Given the description of an element on the screen output the (x, y) to click on. 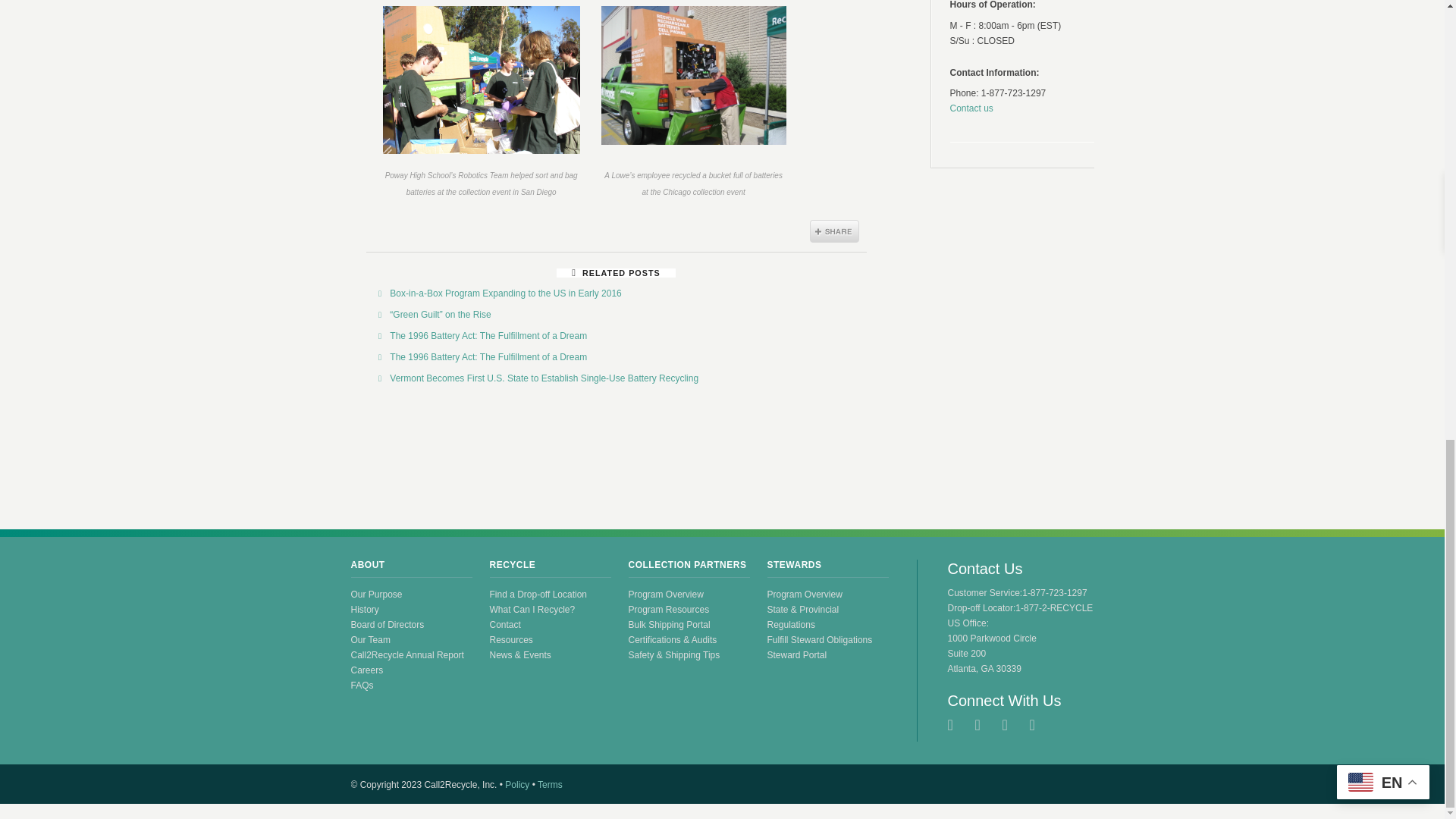
The 1996 Battery Act: The Fulfillment of a Dream (488, 335)
YouTube (1011, 724)
The 1996 Battery Act: The Fulfillment of a Dream (488, 357)
Box-in-a-Box Program Expanding to the US in Early 2016 (505, 293)
Facebook (983, 724)
Linkedin (1038, 724)
Twitter (956, 724)
